Given the description of an element on the screen output the (x, y) to click on. 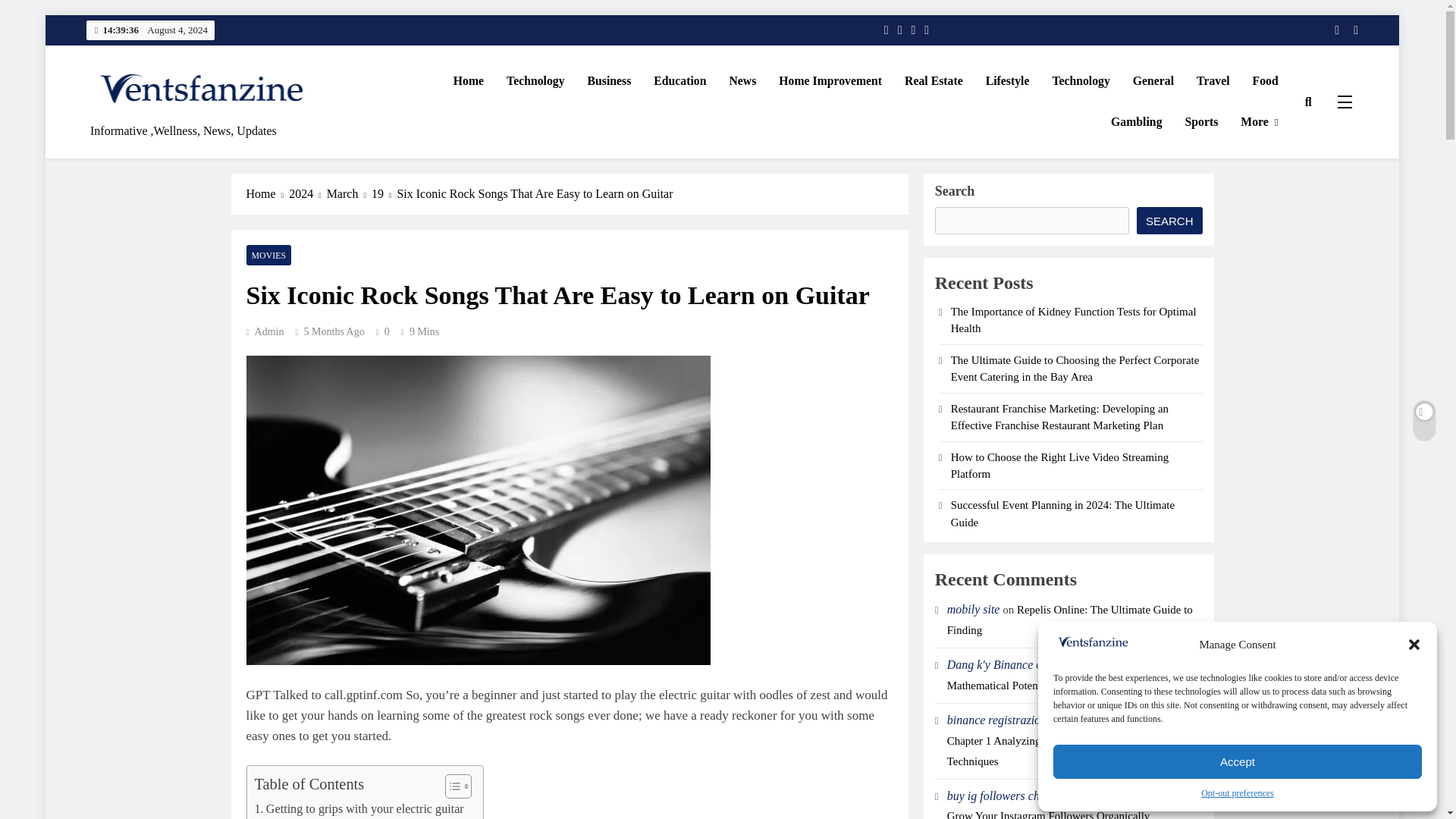
Business (609, 80)
Sports (1201, 121)
Getting to grips with your electric guitar (359, 809)
Home Improvement (830, 80)
More (1258, 122)
Accept (1237, 761)
Technology (1081, 80)
Education (679, 80)
News (742, 80)
